Given the description of an element on the screen output the (x, y) to click on. 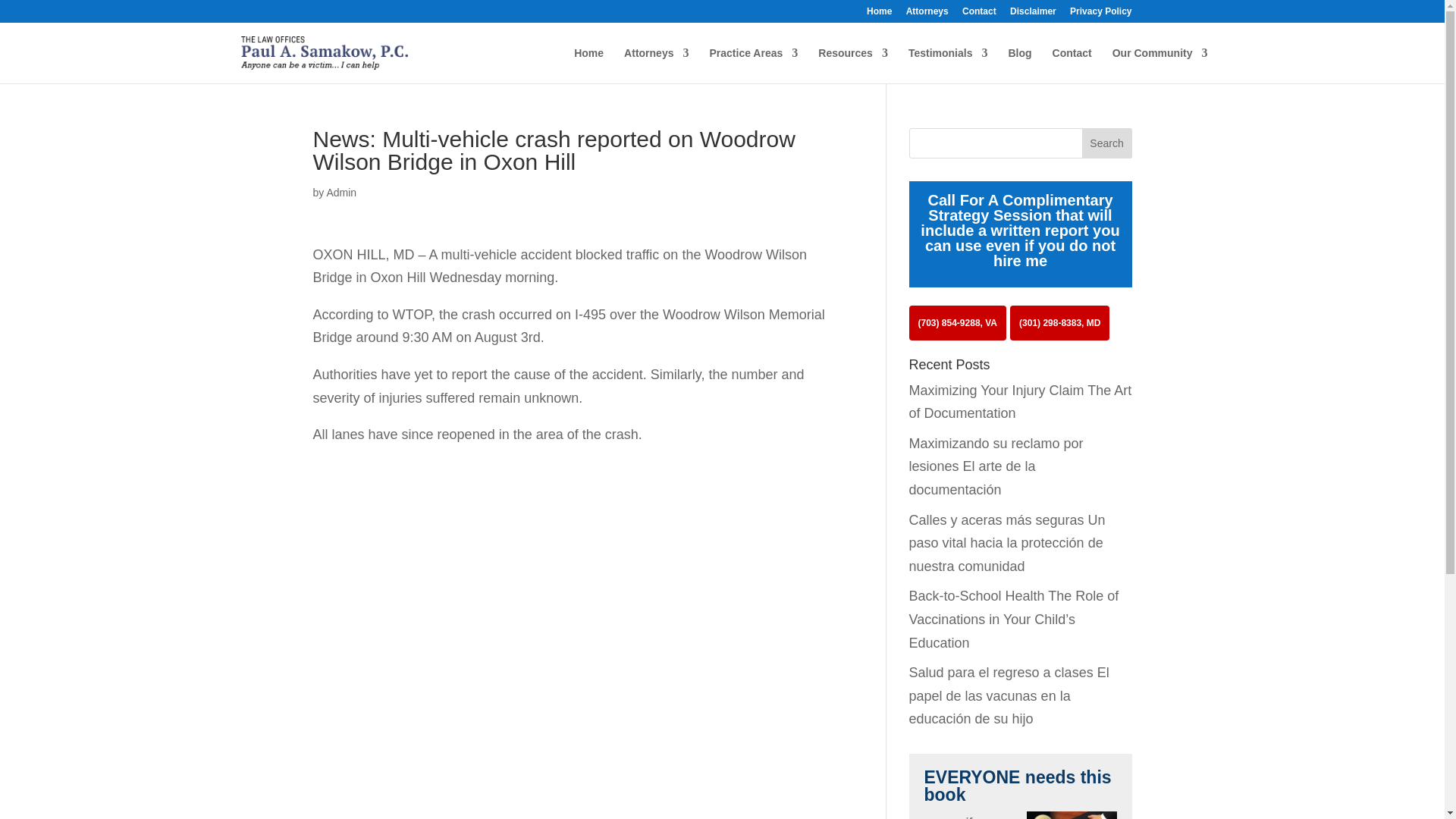
Attorneys (656, 65)
Testimonials (948, 65)
Search (1106, 142)
Contact (978, 14)
Practice Areas (753, 65)
Posts by Admin (341, 192)
Home (878, 14)
Privacy Policy (1100, 14)
Resources (853, 65)
Disclaimer (1033, 14)
